Given the description of an element on the screen output the (x, y) to click on. 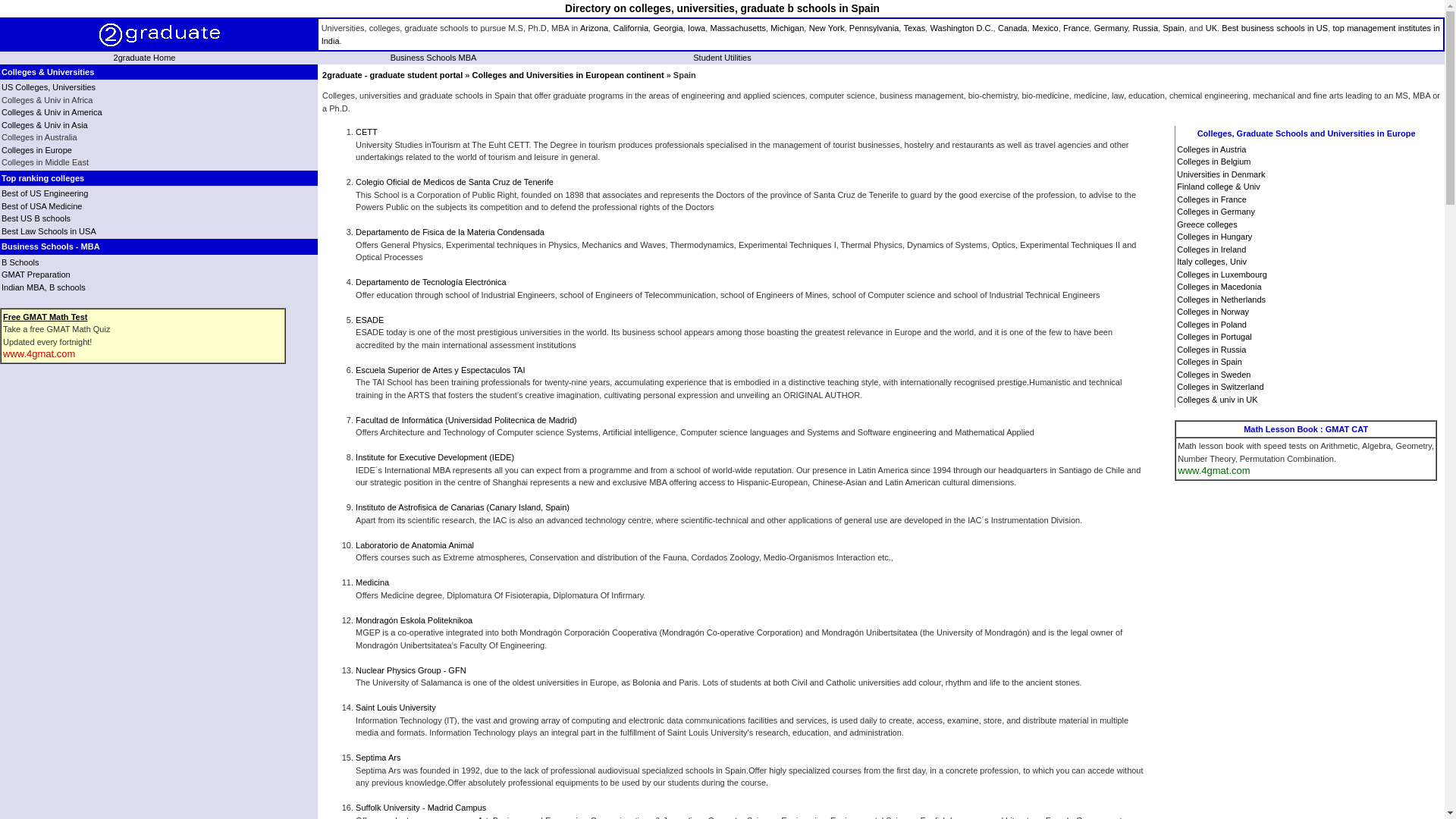
Greece colleges Element type: text (1206, 224)
Saint Louis University Element type: text (395, 707)
Colleges in France Element type: text (1211, 198)
Nuclear Physics Group - GFN Element type: text (410, 669)
Best of USA Medicine Element type: text (41, 205)
Italy colleges, Univ Element type: text (1211, 261)
Best Law Schools in USA Element type: text (48, 230)
Top ranking colleges Element type: text (42, 177)
B Schools Element type: text (20, 261)
Michigan Element type: text (786, 27)
GMAT Preparation Element type: text (35, 274)
Septima Ars Element type: text (377, 757)
Escuela Superior de Artes y Espectaculos TAI Element type: text (439, 369)
Colleges in Sweden Element type: text (1213, 374)
Institute for Executive Development (IEDE) Element type: text (434, 456)
Spain Element type: text (1173, 27)
Colleges & univ in UK Element type: text (1216, 399)
Texas Element type: text (914, 27)
France Element type: text (1075, 27)
Arizona Element type: text (594, 27)
Colegio Oficial de Medicos de Santa Cruz de Tenerife Element type: text (454, 181)
Colleges in Macedonia Element type: text (1218, 286)
US Colleges, Universities Element type: text (48, 86)
Colleges in Russia Element type: text (1210, 349)
Laboratorio de Anatomia Animal Element type: text (414, 544)
Colleges in Belgium Element type: text (1213, 161)
Business Schools MBA Element type: text (433, 57)
Indian MBA, B schools Element type: text (43, 286)
Iowa Element type: text (696, 27)
Colleges in Portugal Element type: text (1213, 336)
Colleges in Germany Element type: text (1215, 211)
Universities in Denmark Element type: text (1220, 173)
Colleges in Spain Element type: text (1209, 361)
Georgia Element type: text (667, 27)
New York Element type: text (826, 27)
Colleges & Univ in Asia Element type: text (44, 124)
Colleges in Ireland Element type: text (1210, 249)
California Element type: text (630, 27)
Washington D.C. Element type: text (961, 27)
Colleges in Netherlands Element type: text (1220, 299)
Math Lesson Book : GMAT CAT Element type: text (1305, 428)
Best business schools in US Element type: text (1274, 27)
Free GMAT Math Test Element type: text (45, 316)
Colleges in Poland Element type: text (1211, 324)
top management institutes in India Element type: text (880, 34)
Colleges and Universities in European continent Element type: text (568, 74)
Colleges in Austria Element type: text (1210, 148)
Finland college & Univ Element type: text (1217, 186)
Colleges in Hungary Element type: text (1214, 236)
Best of US Engineering Element type: text (44, 192)
Pennsylvania Element type: text (873, 27)
Medicina Element type: text (372, 581)
Colleges in Norway Element type: text (1212, 311)
Best US B schools Element type: text (35, 217)
Mexico Element type: text (1045, 27)
Canada Element type: text (1012, 27)
CETT Element type: text (366, 131)
2graduate - graduate student portal Element type: text (392, 74)
2graduate Home Element type: text (144, 57)
Massachusetts Element type: text (737, 27)
Suffolk University - Madrid Campus Element type: text (420, 807)
Colleges & Univ in America Element type: text (51, 111)
ESADE Element type: text (369, 319)
Instituto de Astrofisica de Canarias (Canary Island, Spain) Element type: text (462, 506)
Colleges in Luxembourg Element type: text (1221, 274)
Business Schools - MBA Element type: text (50, 246)
Departamento de Fisica de la Materia Condensada Element type: text (449, 231)
Russia Element type: text (1145, 27)
Student Utilities Element type: text (721, 57)
Colleges in Europe Element type: text (36, 149)
Colleges in Switzerland Element type: text (1219, 386)
Germany Element type: text (1110, 27)
UK Element type: text (1211, 27)
